Given the description of an element on the screen output the (x, y) to click on. 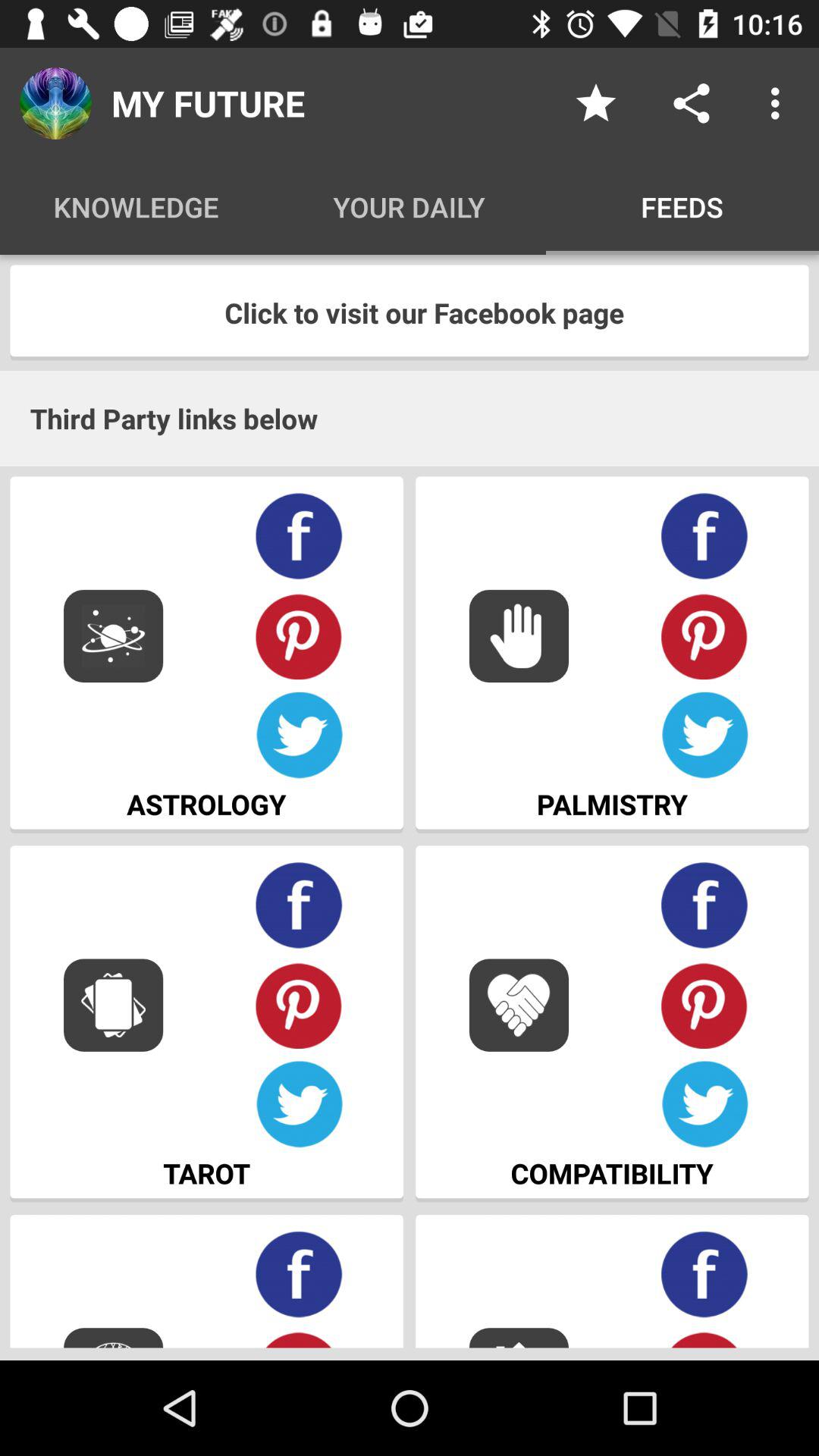
the facebook link (299, 1274)
